Given the description of an element on the screen output the (x, y) to click on. 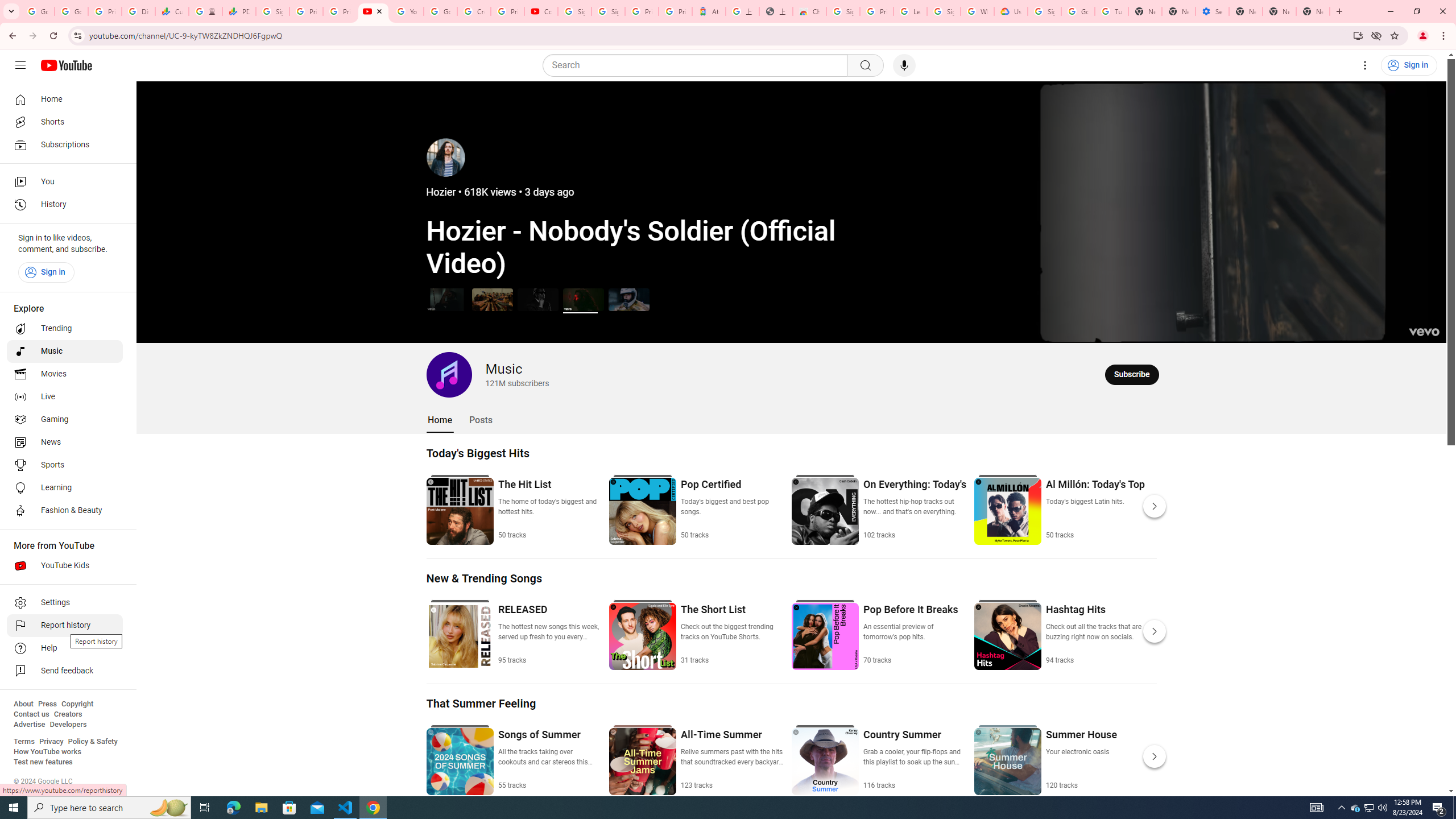
A$AP Rocky - HIGHJACK (Official Video) (537, 299)
Channel watermark (1424, 331)
Developers (68, 724)
About (23, 703)
Create your Google Account (474, 11)
Search with your voice (903, 65)
Privacy Checkup (339, 11)
The Music Channel - YouTube (372, 11)
Policy & Safety (91, 741)
Sports (64, 464)
